Given the description of an element on the screen output the (x, y) to click on. 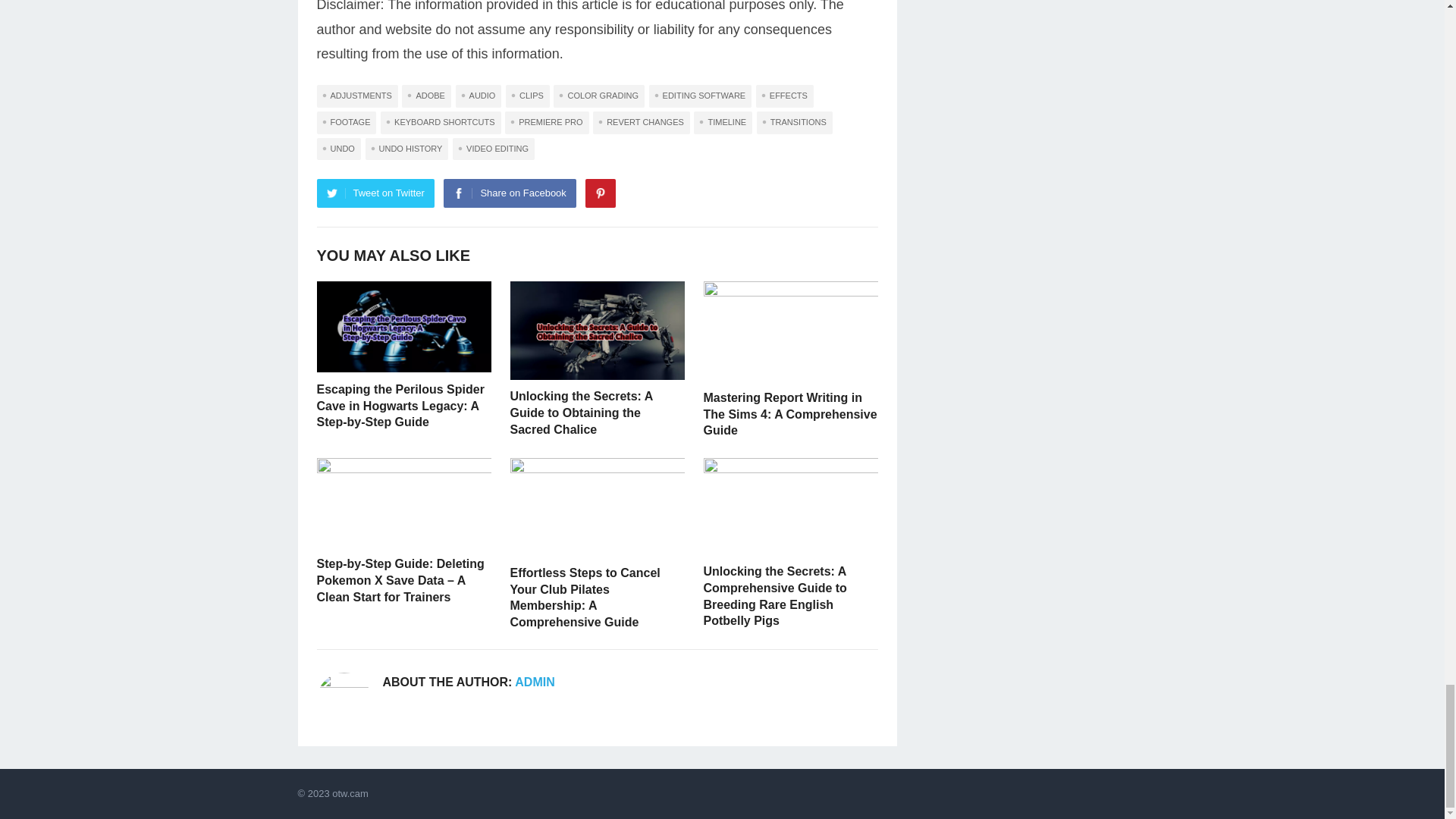
REVERT CHANGES (641, 122)
AUDIO (478, 96)
PREMIERE PRO (546, 122)
TIMELINE (723, 122)
TRANSITIONS (794, 122)
UNDO (339, 149)
ADJUSTMENTS (357, 96)
FOOTAGE (347, 122)
COLOR GRADING (599, 96)
Tweet on Twitter (375, 193)
CLIPS (527, 96)
EFFECTS (784, 96)
EDITING SOFTWARE (700, 96)
VIDEO EDITING (493, 149)
